Given the description of an element on the screen output the (x, y) to click on. 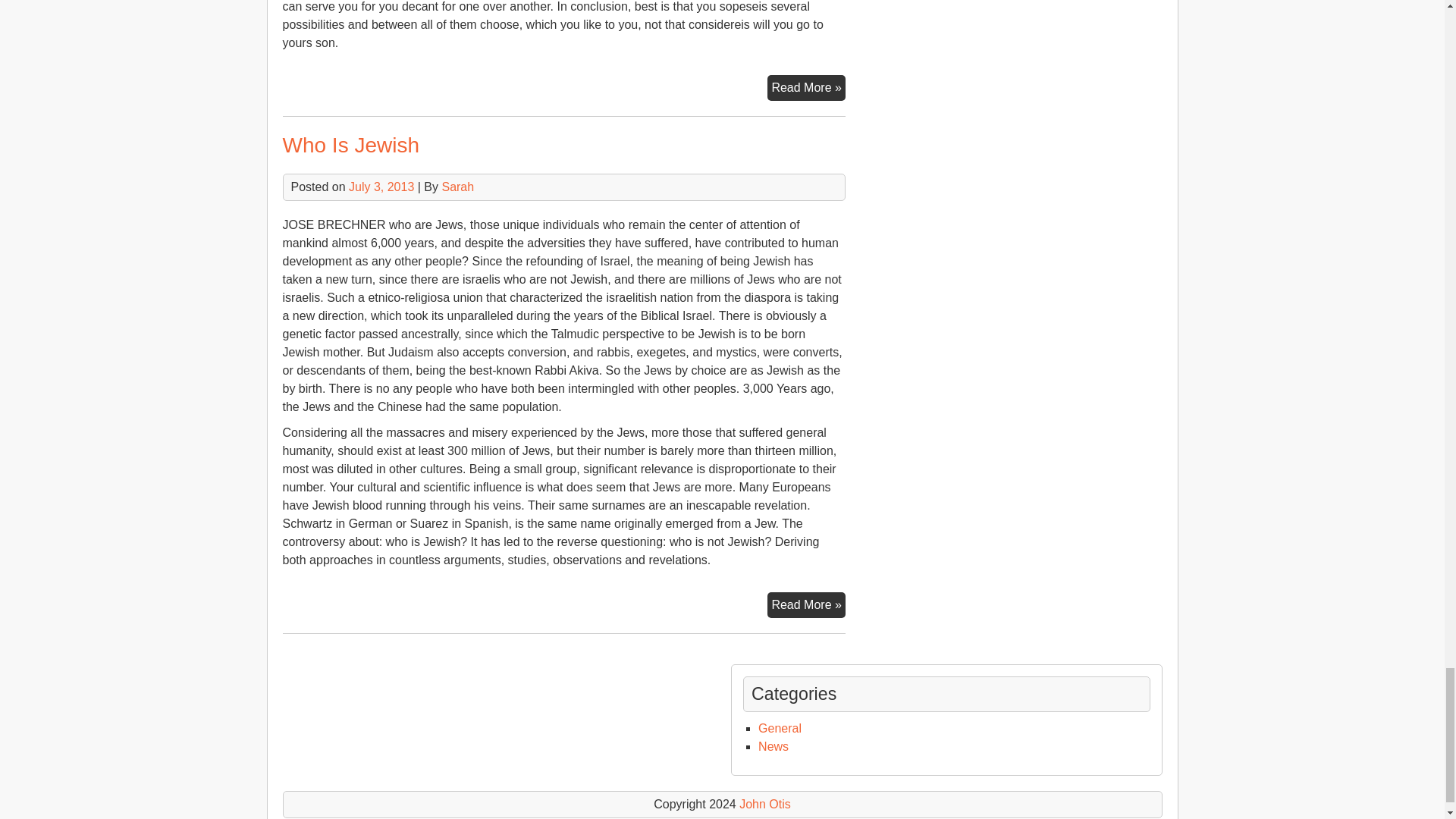
Permalink to Who Is Jewish (350, 145)
Who Is Jewish (350, 145)
Sarah (457, 186)
John Otis (764, 803)
July 3, 2013 (381, 186)
